Given the description of an element on the screen output the (x, y) to click on. 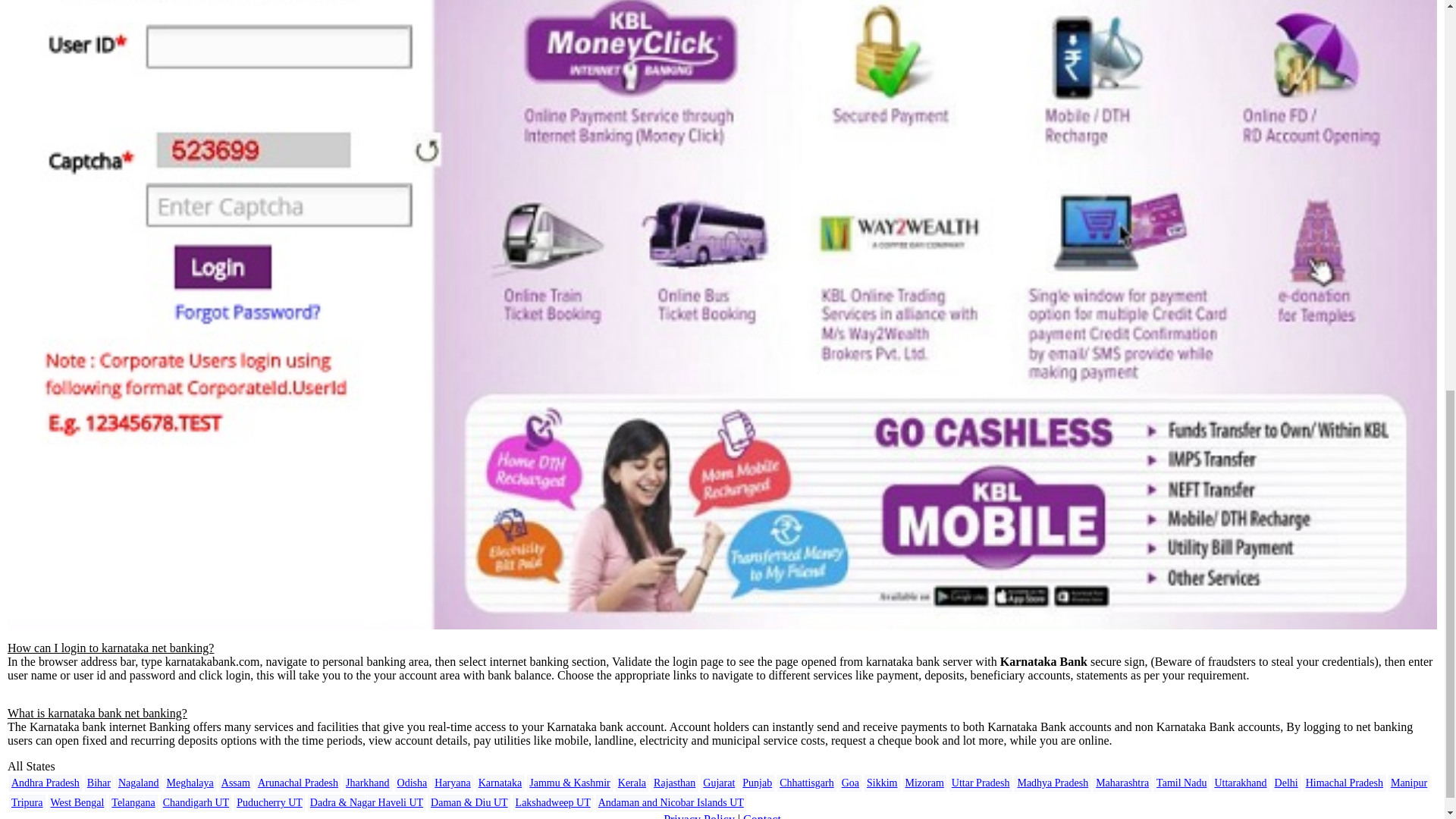
Odisha (412, 782)
Haryana (451, 782)
Telangana (133, 802)
Uttar Pradesh (981, 782)
Assam (235, 782)
Goa (850, 782)
Chandigarh UT (195, 802)
Jharkhand (368, 782)
Karnataka (500, 782)
Chhattisgarh (806, 782)
